Given the description of an element on the screen output the (x, y) to click on. 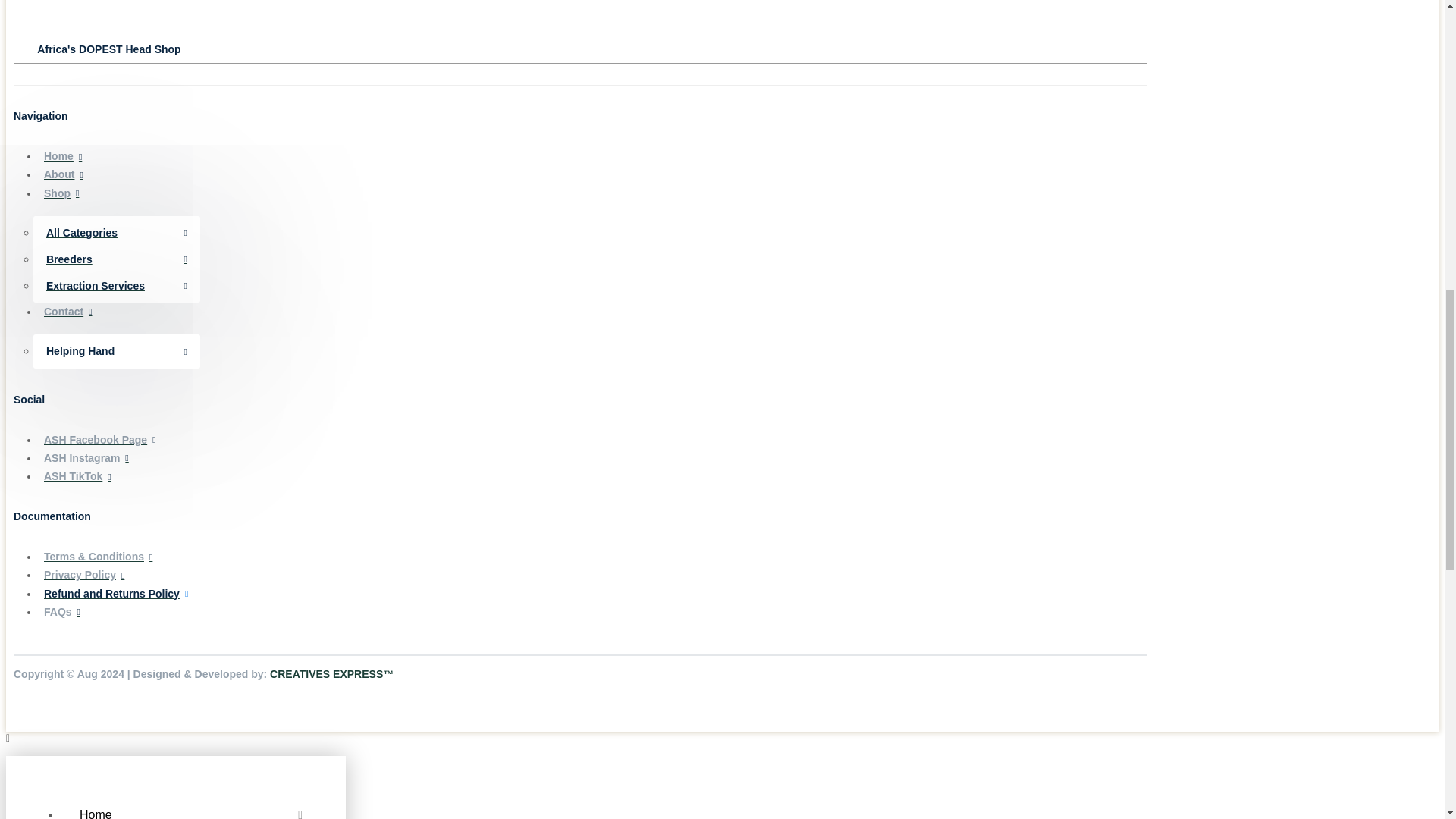
About (596, 175)
FAQs (596, 611)
ASH Instagram (596, 457)
Breeders (116, 259)
ASH Facebook Page (596, 439)
Helping Hand (116, 351)
ASH TikTok (596, 476)
Extraction Services (116, 285)
Home (191, 805)
Privacy Policy (596, 575)
